Given the description of an element on the screen output the (x, y) to click on. 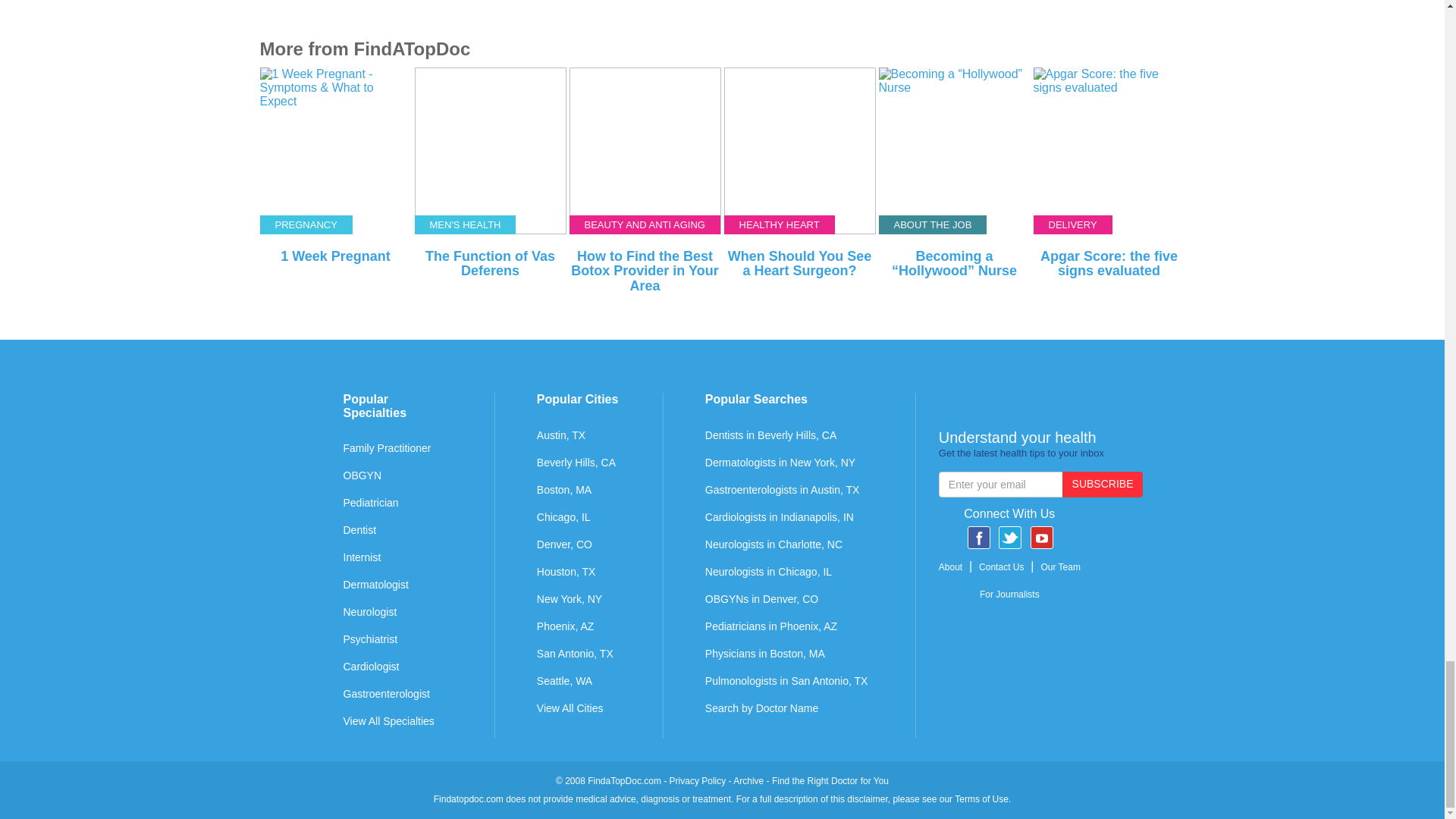
SUBSCRIBE (1102, 484)
Youtube (1041, 537)
Twitter (1010, 537)
Facebook (979, 537)
